Given the description of an element on the screen output the (x, y) to click on. 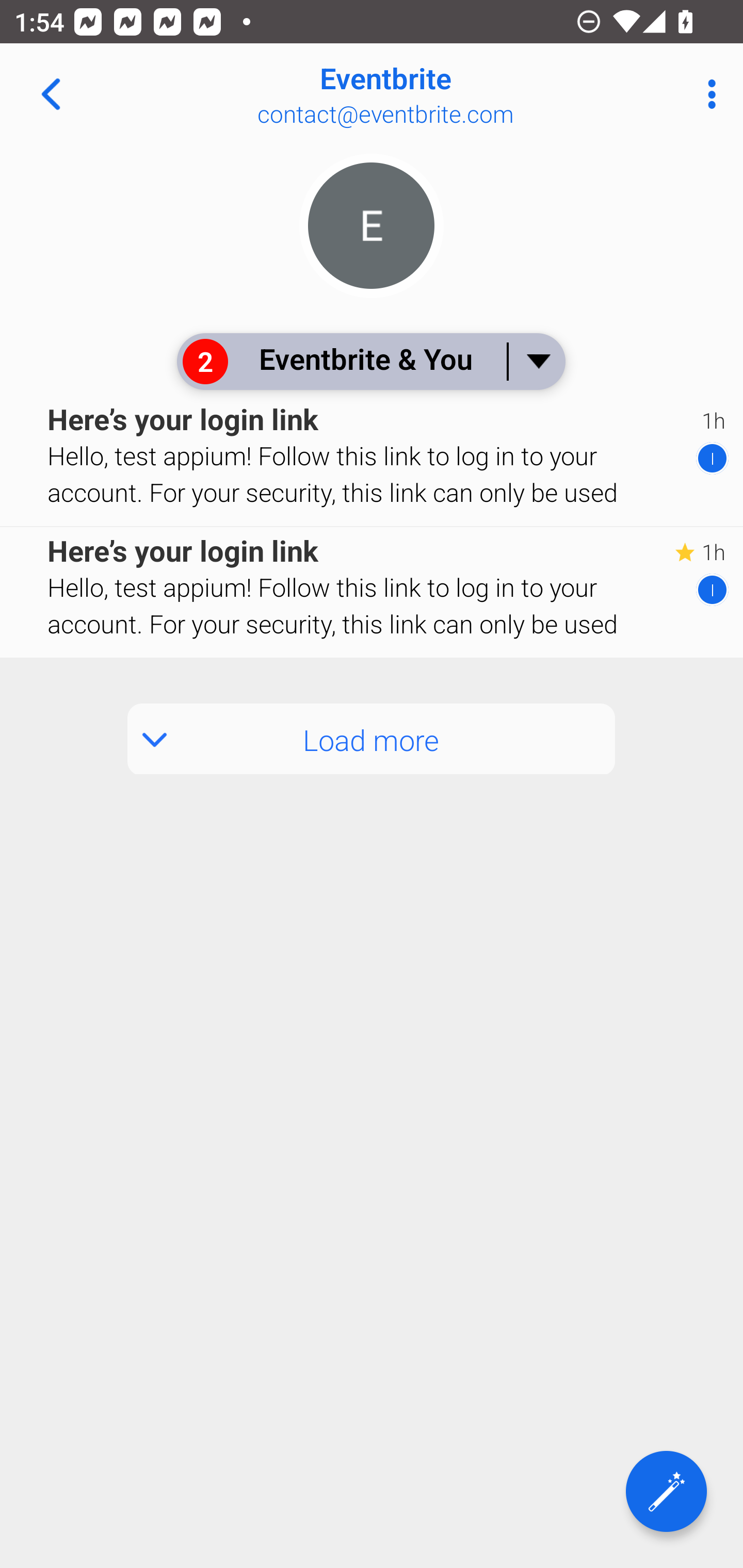
Navigate up (50, 93)
Eventbrite contact@eventbrite.com (436, 93)
More Options (706, 93)
2 Eventbrite & You (370, 361)
Load more (371, 739)
